Given the description of an element on the screen output the (x, y) to click on. 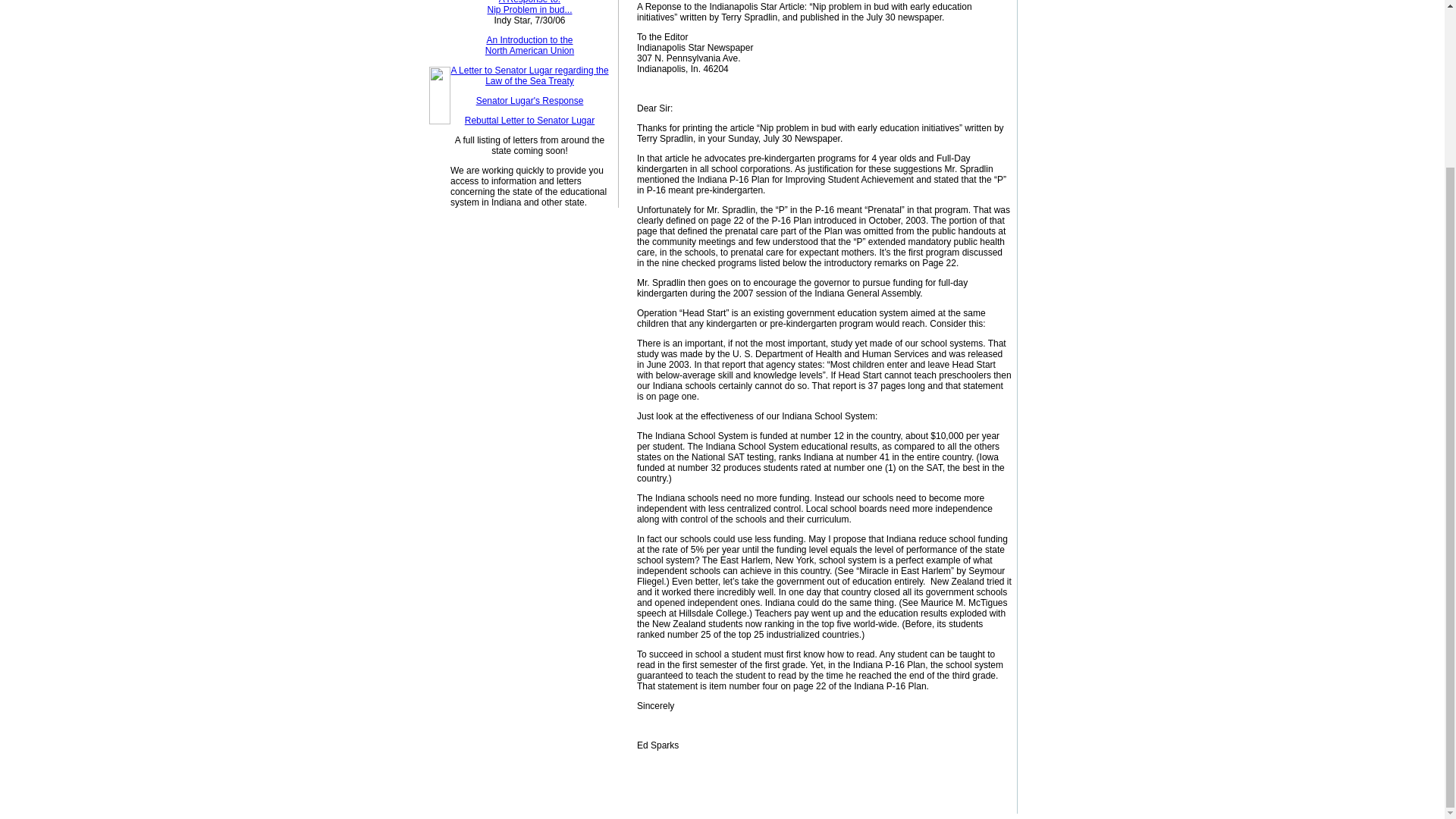
Senator Lugar's Response (528, 45)
Rebuttal Letter to Senator Lugar (529, 100)
